Given the description of an element on the screen output the (x, y) to click on. 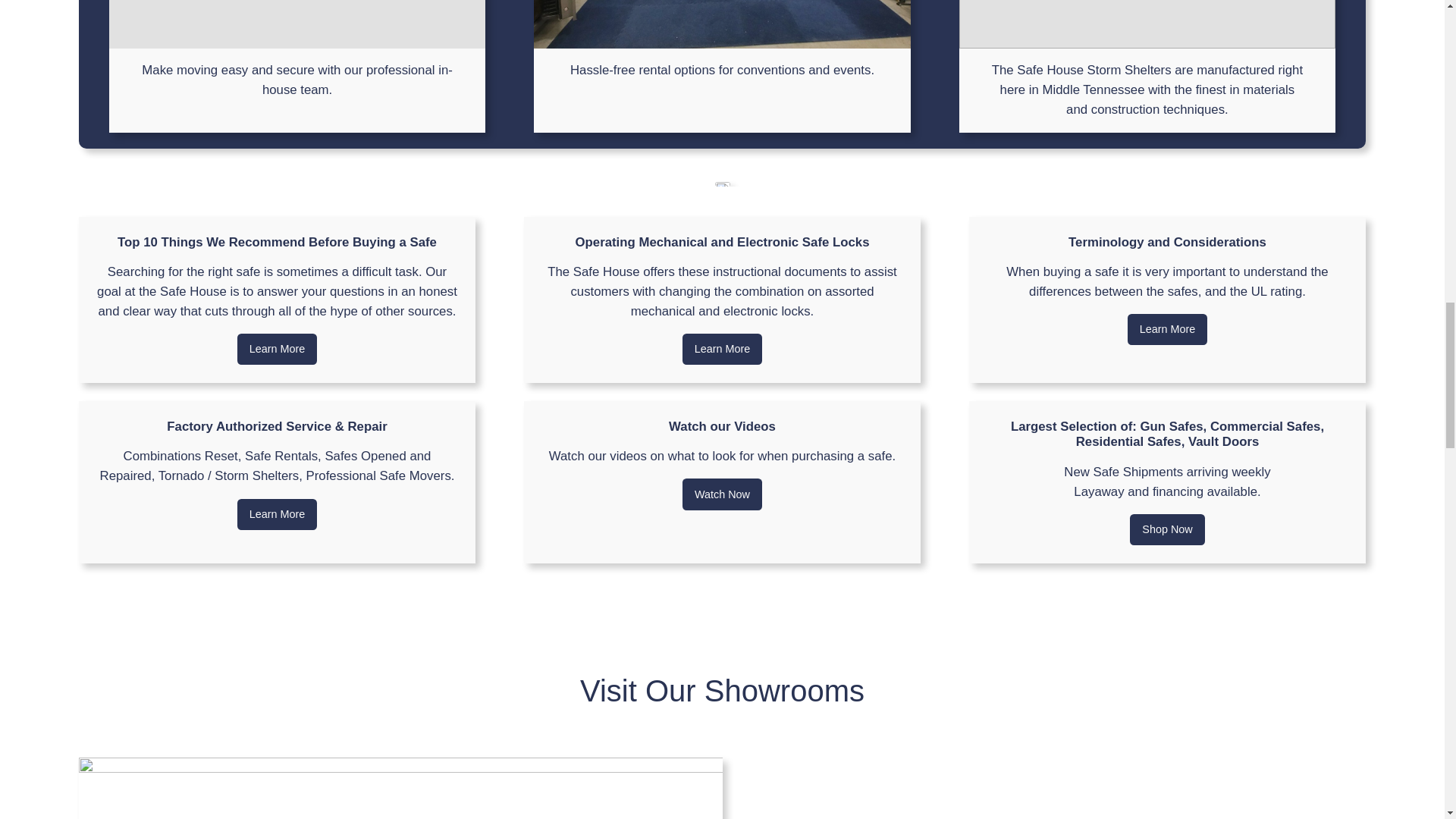
Learn More (277, 514)
Watch Now (721, 494)
Learn More (722, 349)
Shop Now (1166, 530)
Learn More (1167, 329)
Learn More (277, 349)
